Given the description of an element on the screen output the (x, y) to click on. 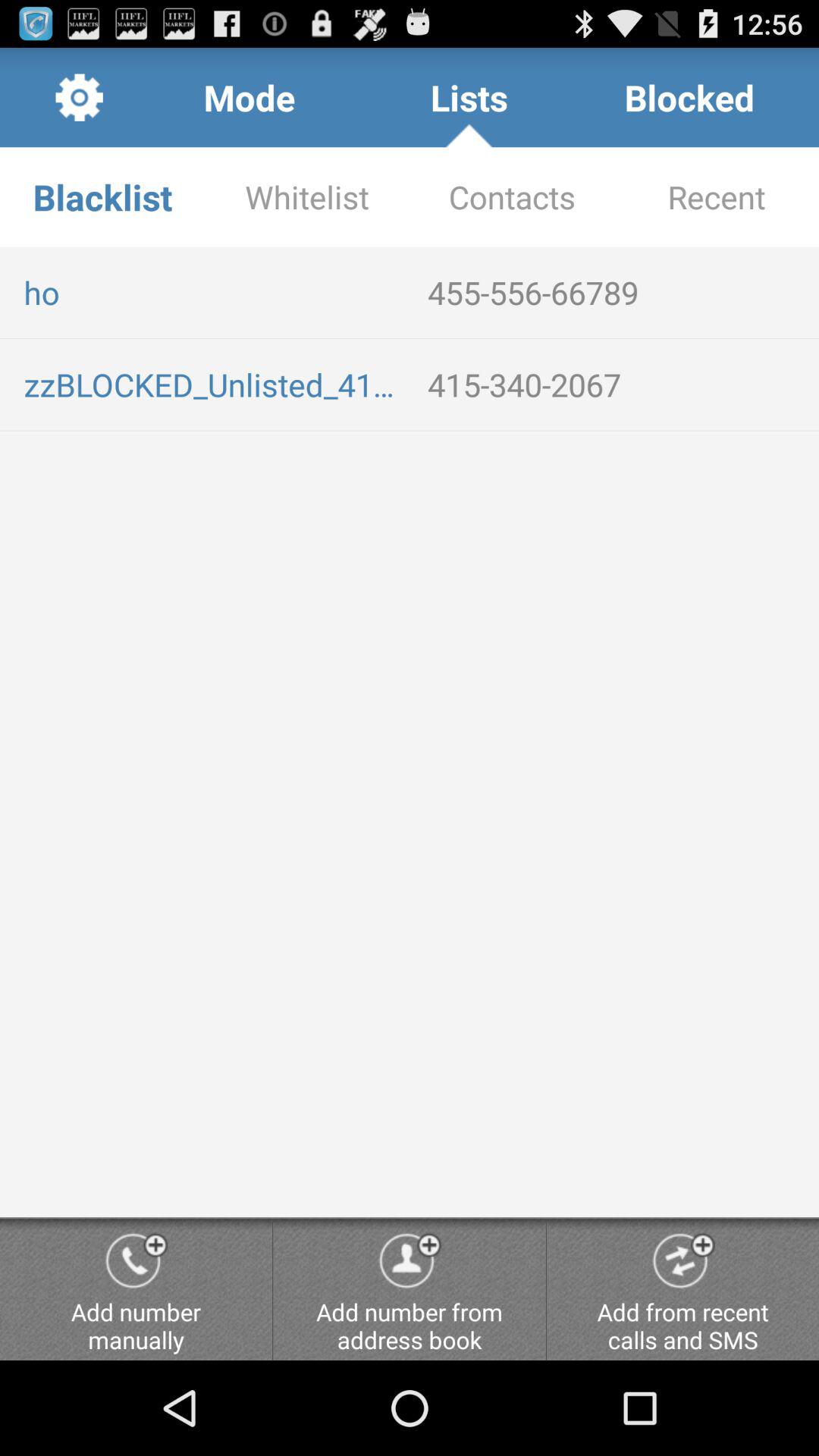
jump to the whitelist app (306, 196)
